Given the description of an element on the screen output the (x, y) to click on. 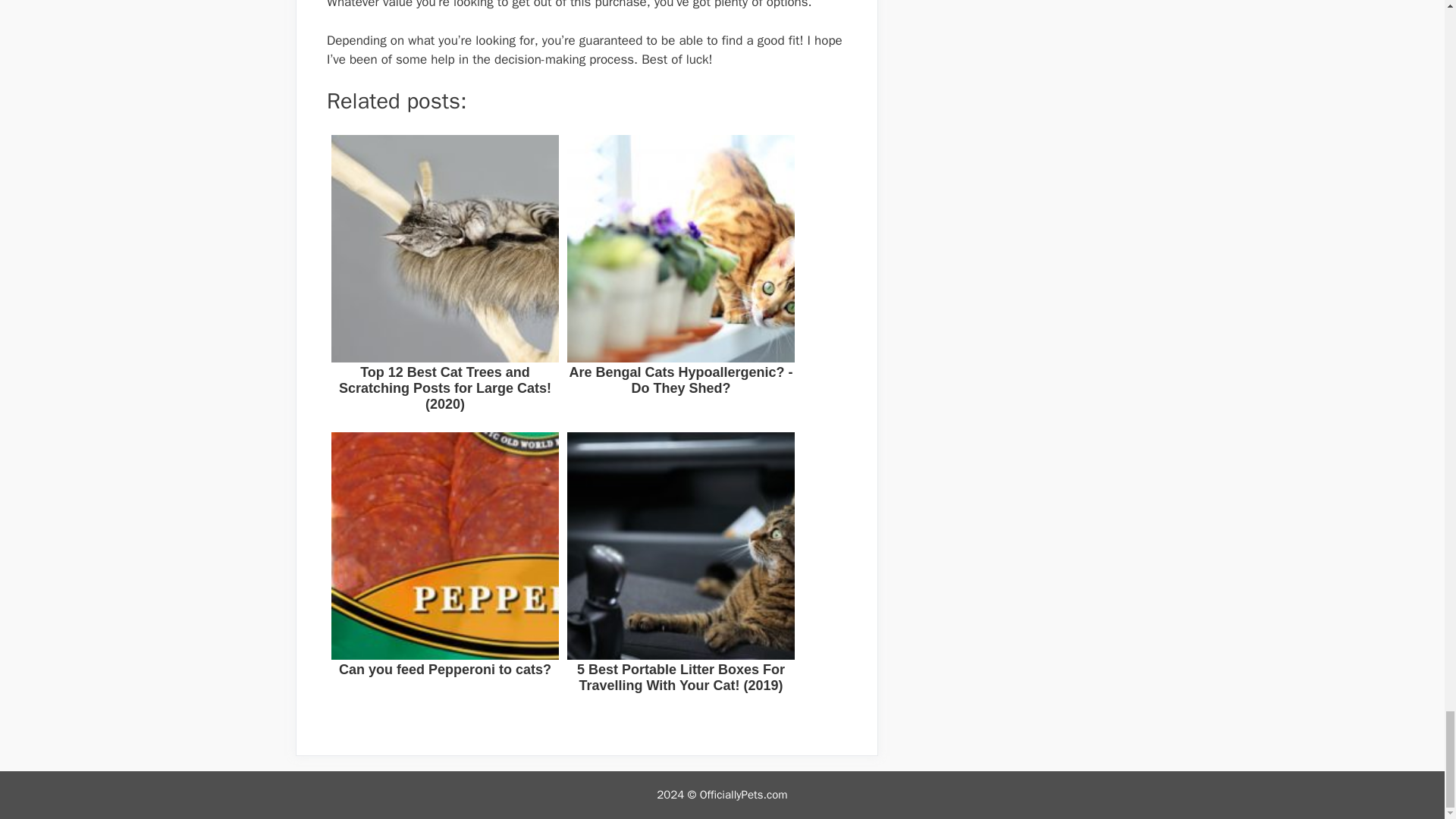
Are Bengal Cats Hypoallergenic? - Do They Shed? (680, 277)
Can you feed Pepperoni to cats? (444, 574)
